Given the description of an element on the screen output the (x, y) to click on. 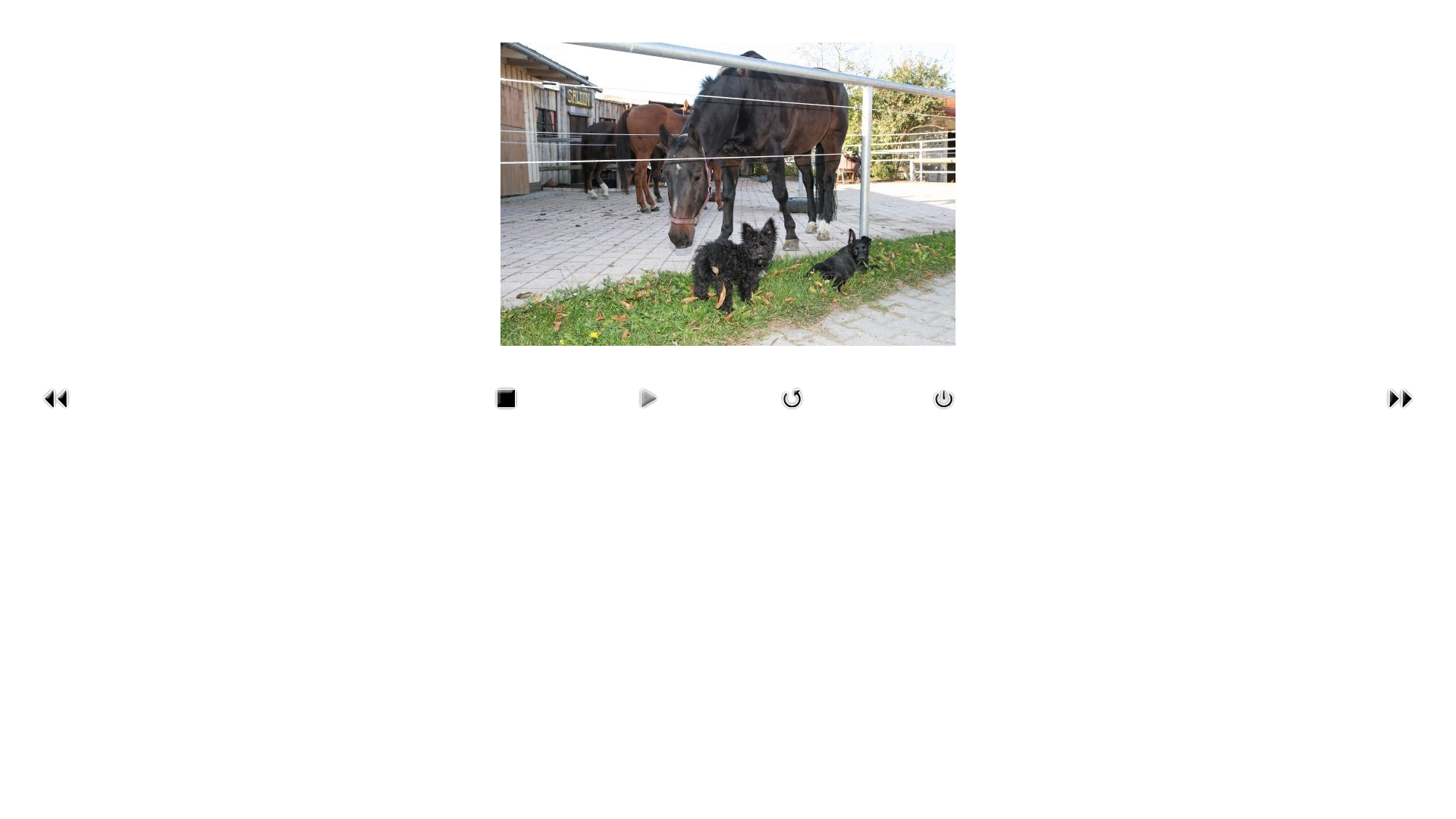
Previous image Element type: hover (55, 411)
Refresh Element type: hover (792, 411)
Stop slideshow Element type: hover (505, 411)
Next image Element type: hover (1399, 411)
